Given the description of an element on the screen output the (x, y) to click on. 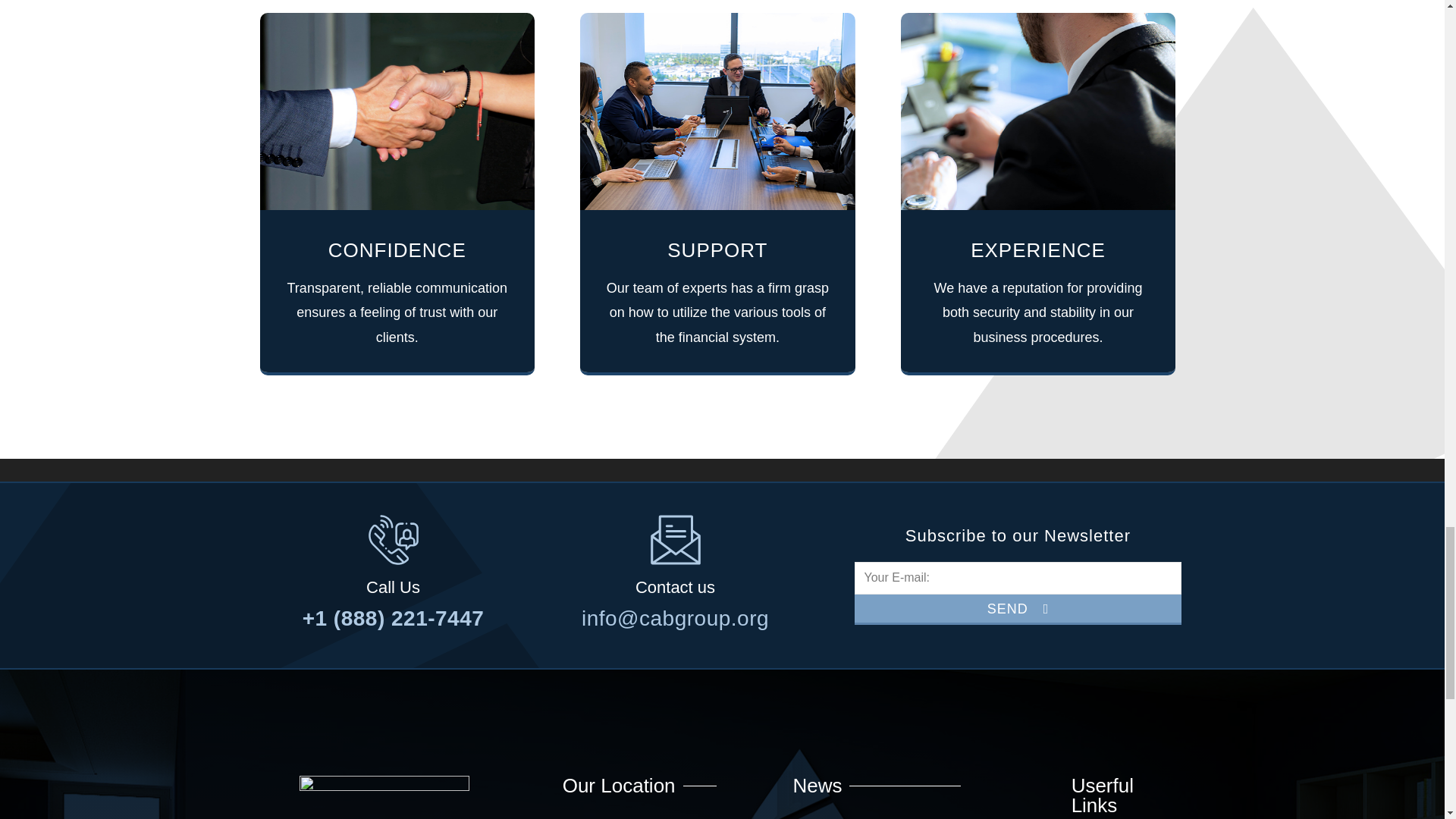
SEND (1016, 609)
